Given the description of an element on the screen output the (x, y) to click on. 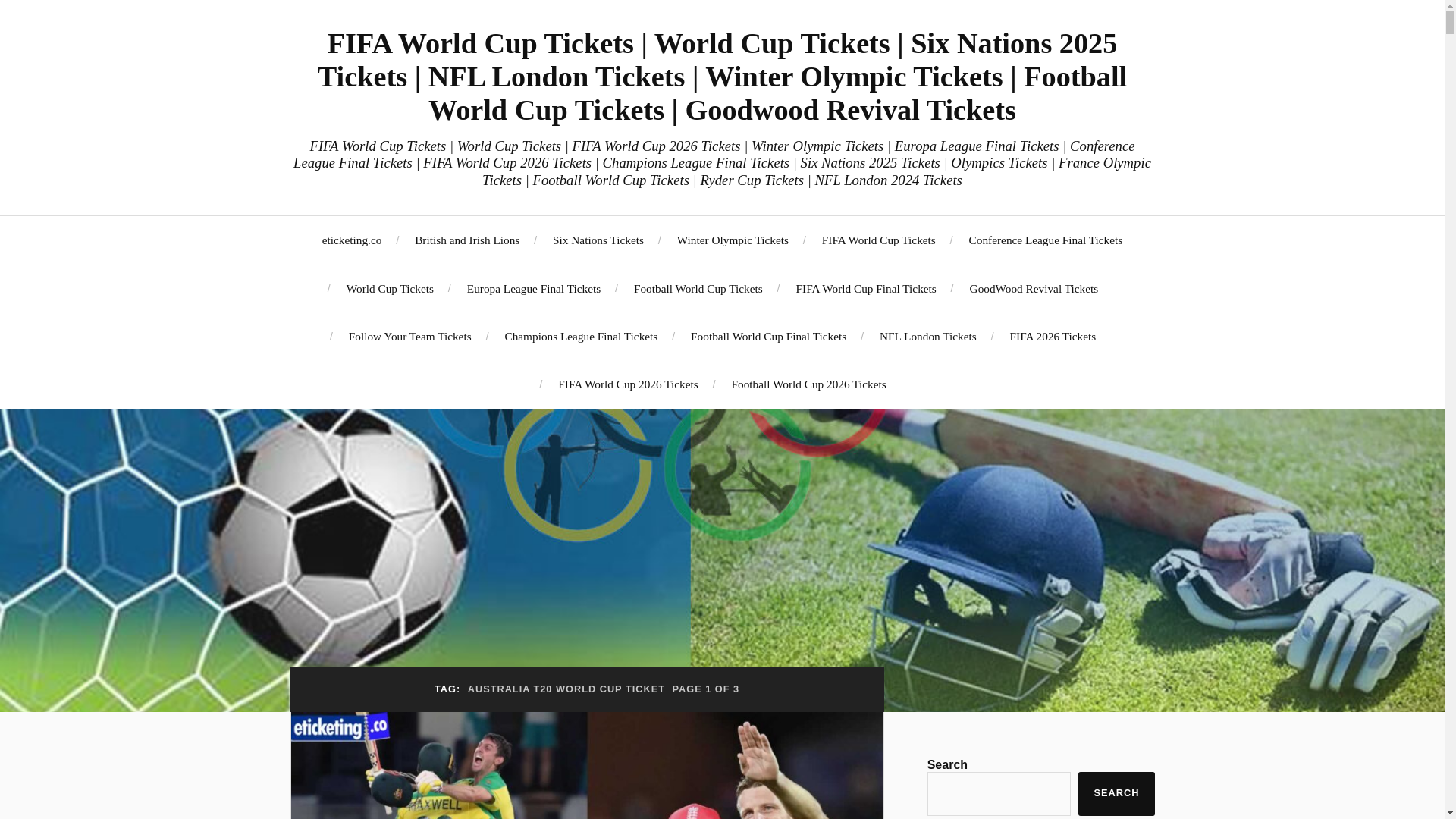
FIFA World Cup 2026 Tickets (627, 383)
Football World Cup Final Tickets (767, 336)
Football World Cup Tickets (697, 288)
Europa League Final Tickets (533, 288)
eticketing.co (351, 239)
FIFA World Cup Final Tickets (866, 288)
Follow Your Team Tickets (410, 336)
Champions League Final Tickets (580, 336)
FIFA World Cup Tickets (879, 239)
Winter Olympic Tickets (733, 239)
